Given the description of an element on the screen output the (x, y) to click on. 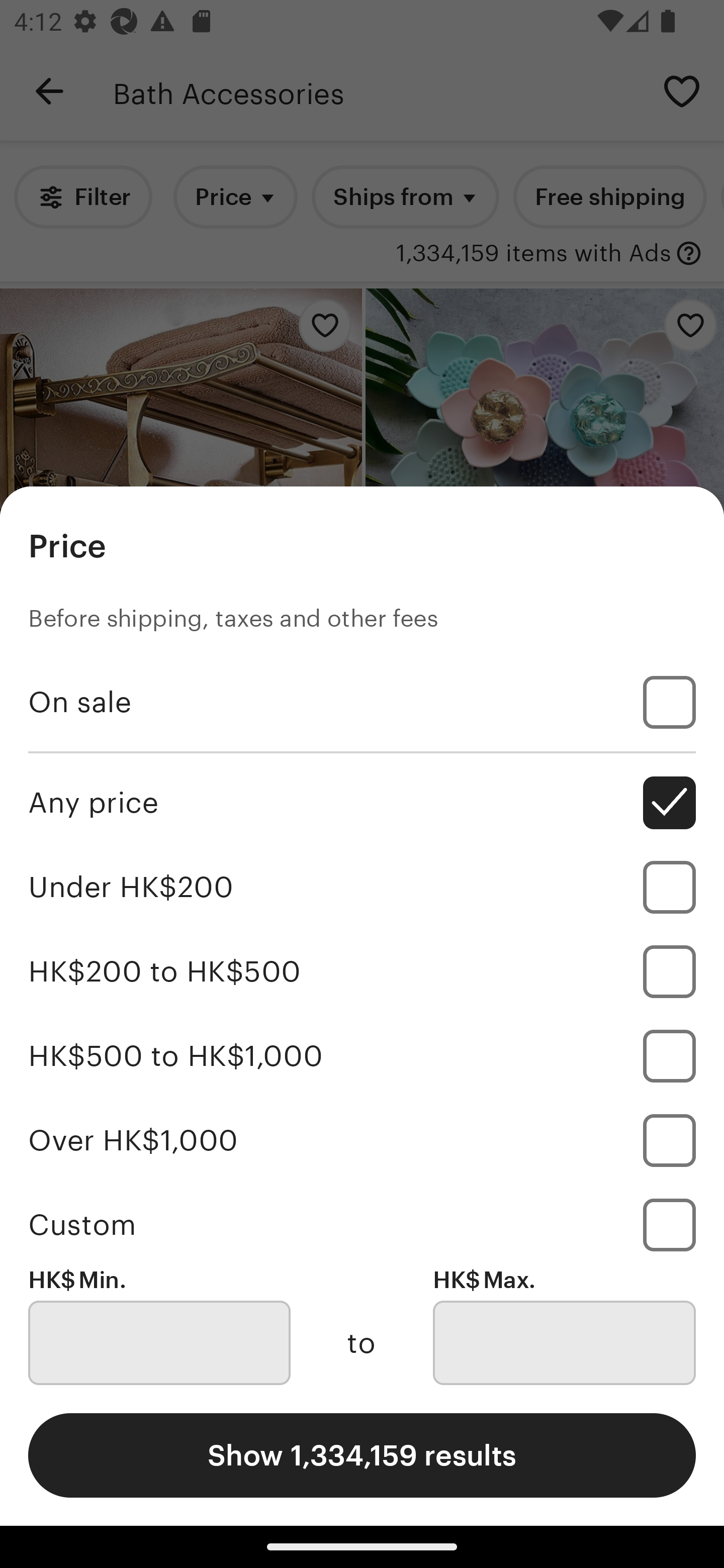
On sale (362, 702)
Any price (362, 802)
Under HK$200 (362, 887)
HK$200 to HK$500 (362, 970)
HK$500 to HK$1,000 (362, 1054)
Over HK$1,000 (362, 1139)
Custom (362, 1224)
Show 1,334,159 results (361, 1454)
